Given the description of an element on the screen output the (x, y) to click on. 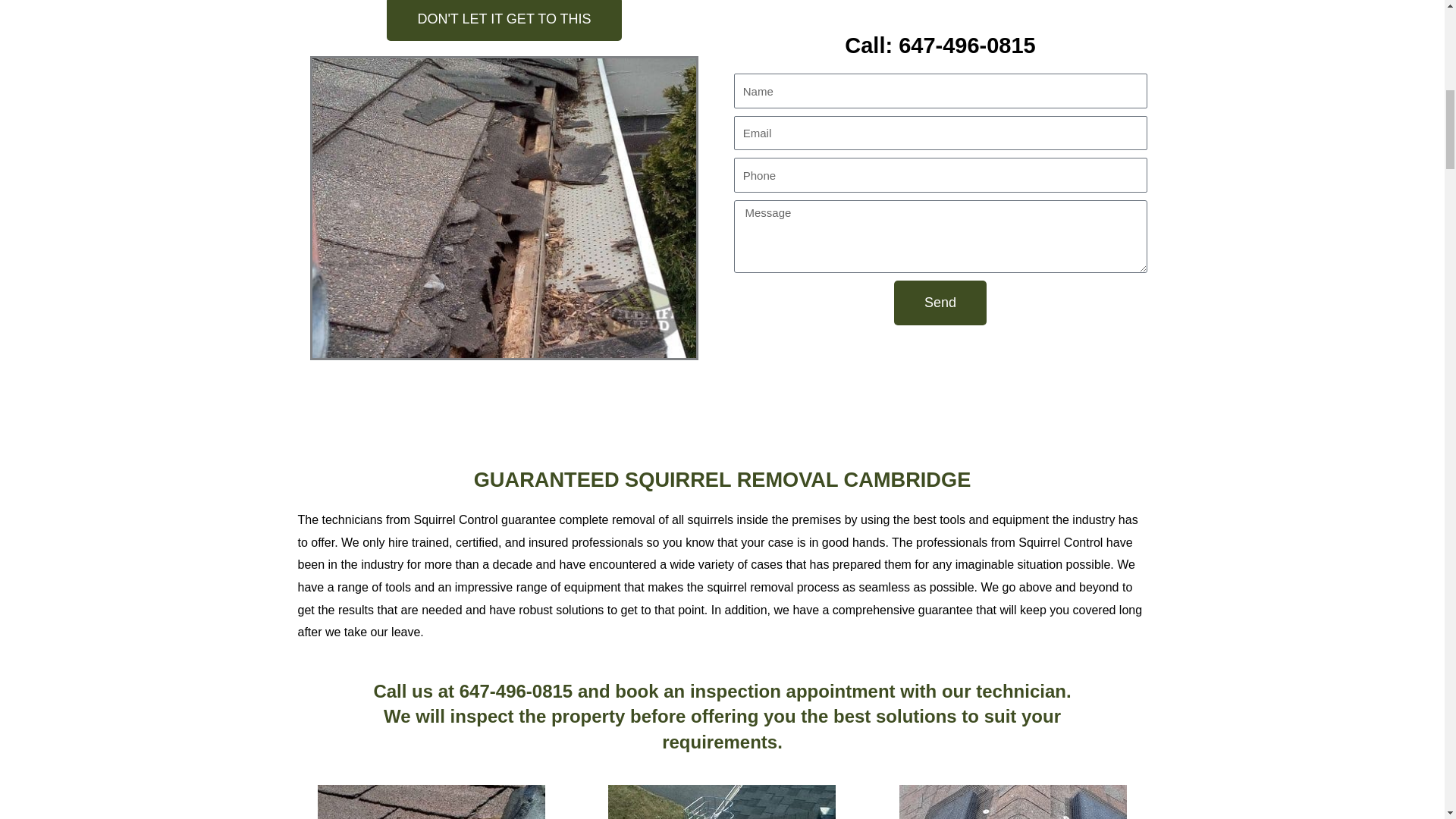
Send (940, 302)
DON'T LET IT GET TO THIS (504, 20)
Call: 647-496-0815 (939, 45)
